Given the description of an element on the screen output the (x, y) to click on. 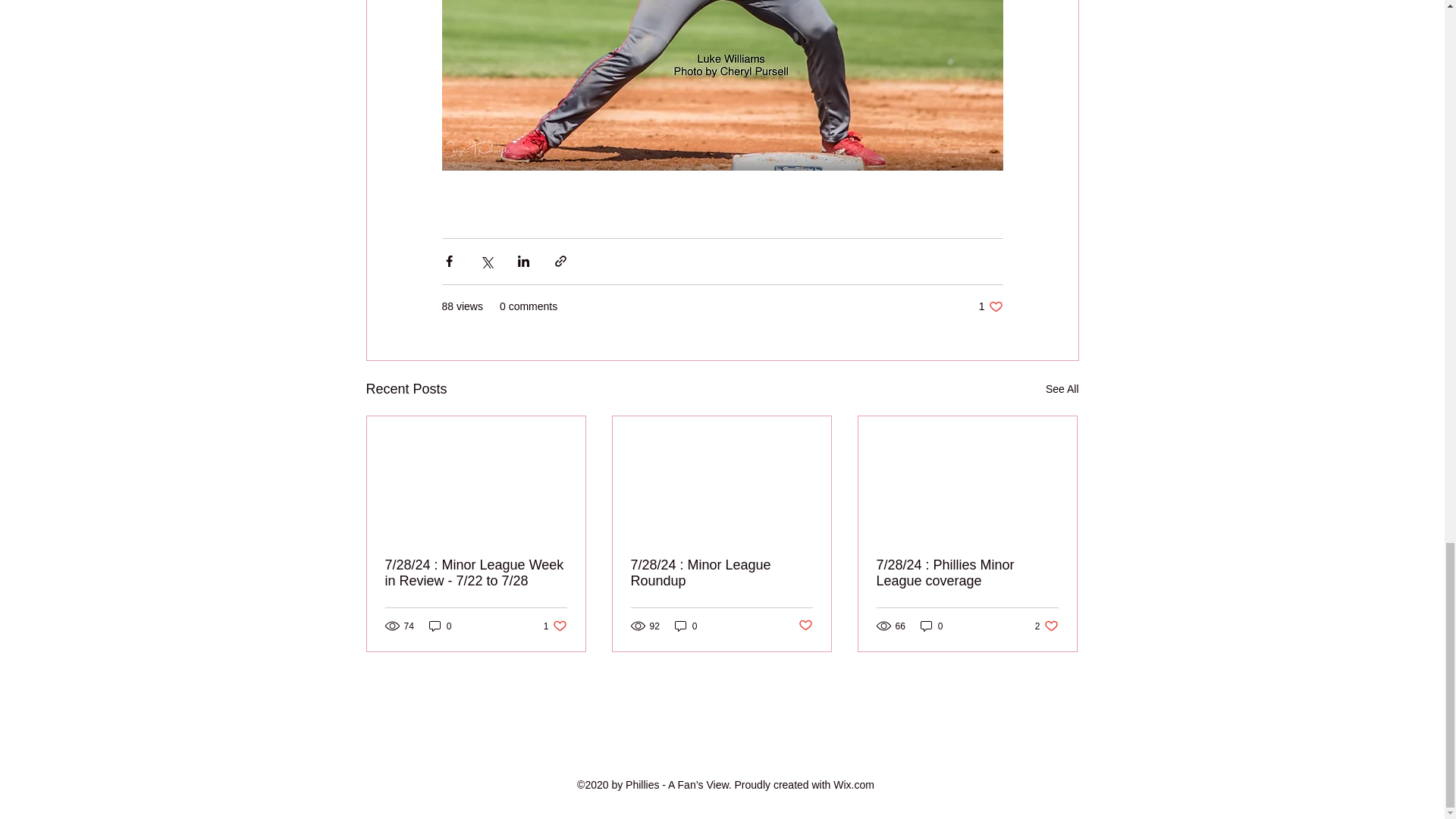
0 (685, 626)
Post not marked as liked (1046, 626)
0 (804, 625)
See All (440, 626)
0 (555, 626)
